Given the description of an element on the screen output the (x, y) to click on. 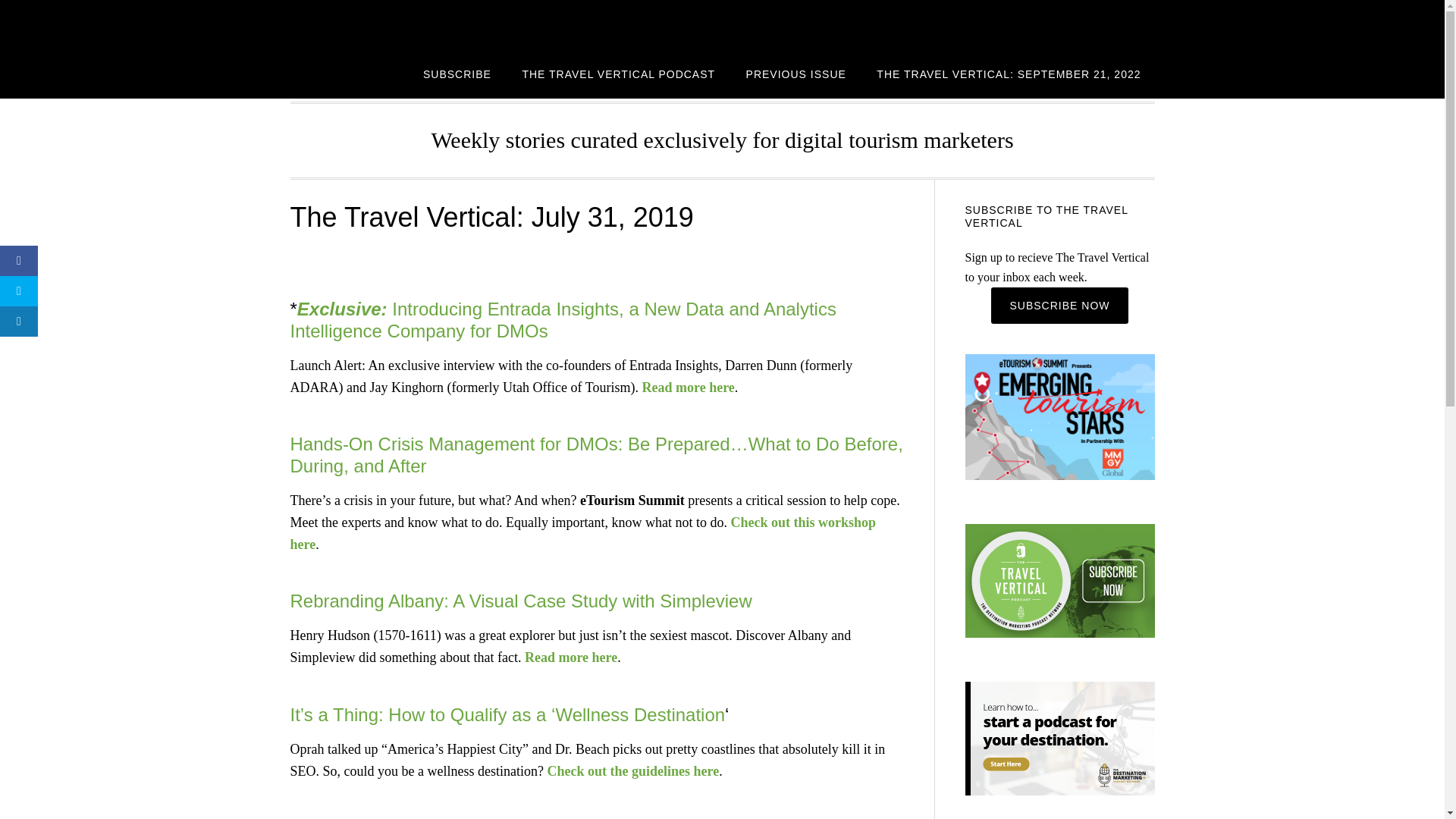
THE TRAVEL VERTICAL (410, 24)
Rebranding Albany: A Visual Case Study with Simpleview (520, 600)
Subscribe Now (1058, 305)
Read more here (570, 657)
Check out this workshop here (582, 533)
THE TRAVEL VERTICAL: SEPTEMBER 21, 2022 (1008, 73)
Subscribe Now (1058, 305)
Read more here (687, 387)
THE TRAVEL VERTICAL PODCAST (618, 73)
SUBSCRIBE (457, 73)
